Given the description of an element on the screen output the (x, y) to click on. 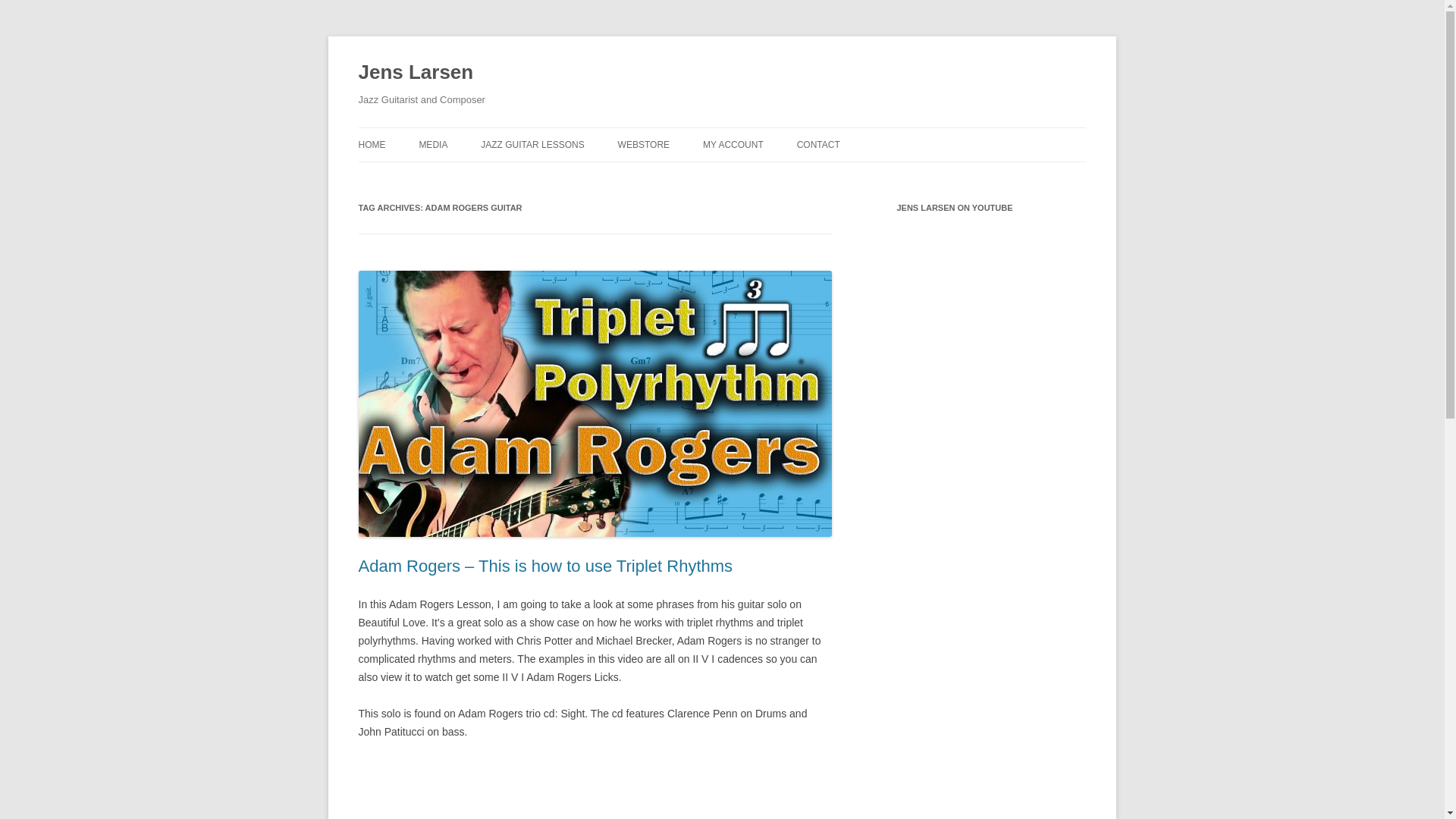
Jens Larsen (415, 72)
WEBSTORE (643, 144)
CONTACT (818, 144)
MY ACCOUNT (732, 144)
CART (778, 176)
Jens Larsen (415, 72)
Adam Rogers - How To Use Triplet Rhythms (594, 789)
ONLINE LESSONS (555, 176)
